Given the description of an element on the screen output the (x, y) to click on. 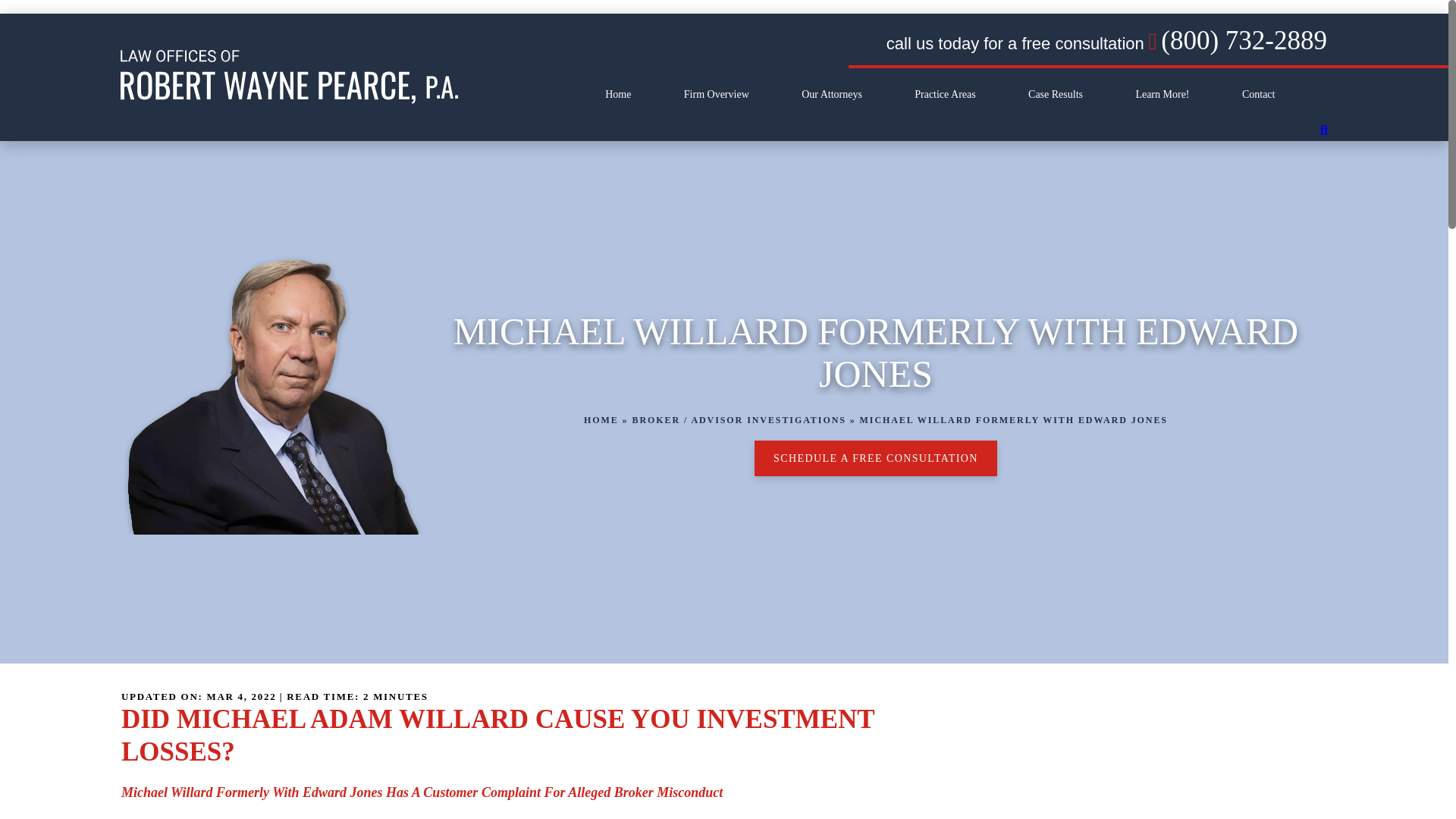
Practice Areas (944, 93)
Case Results (1055, 93)
Our Attorneys (831, 93)
Home (617, 93)
Firm Overview (716, 93)
Learn More! (1162, 93)
